Given the description of an element on the screen output the (x, y) to click on. 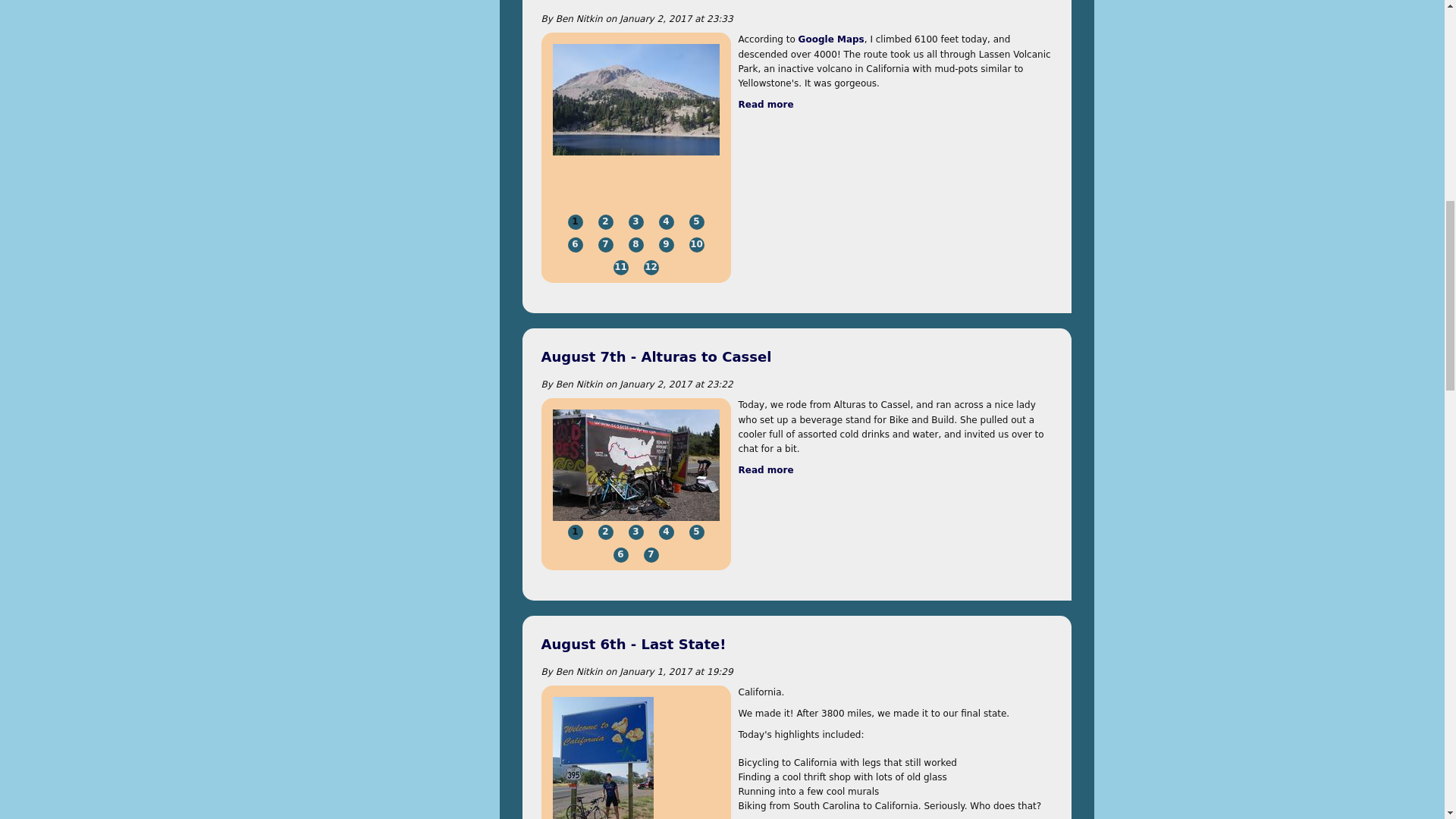
8 (635, 244)
7 (604, 244)
2 (604, 222)
6 (574, 244)
5 (695, 222)
4 (665, 222)
1 (574, 222)
3 (635, 222)
9 (665, 244)
